Given the description of an element on the screen output the (x, y) to click on. 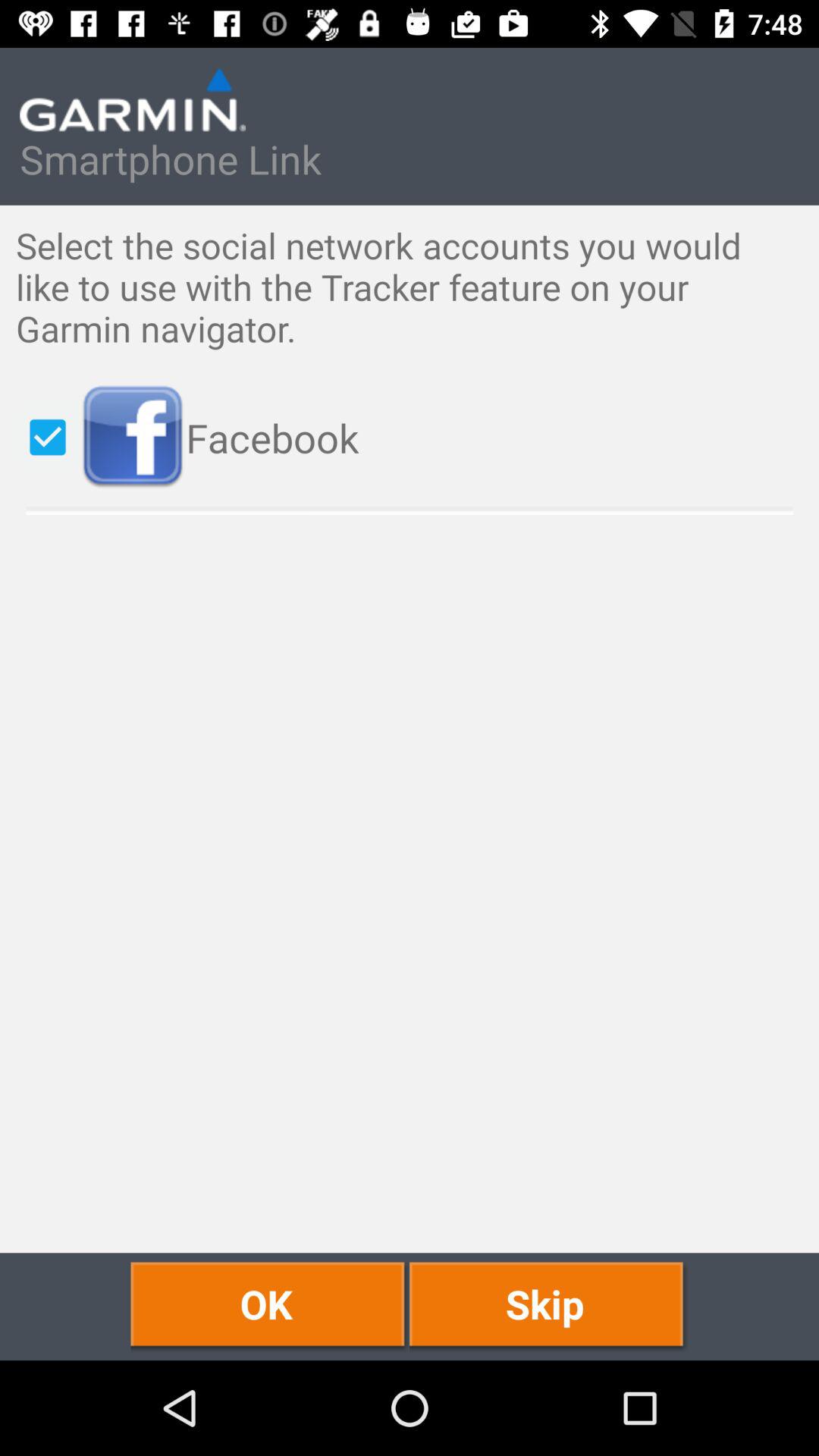
tap the facebook item (441, 437)
